Given the description of an element on the screen output the (x, y) to click on. 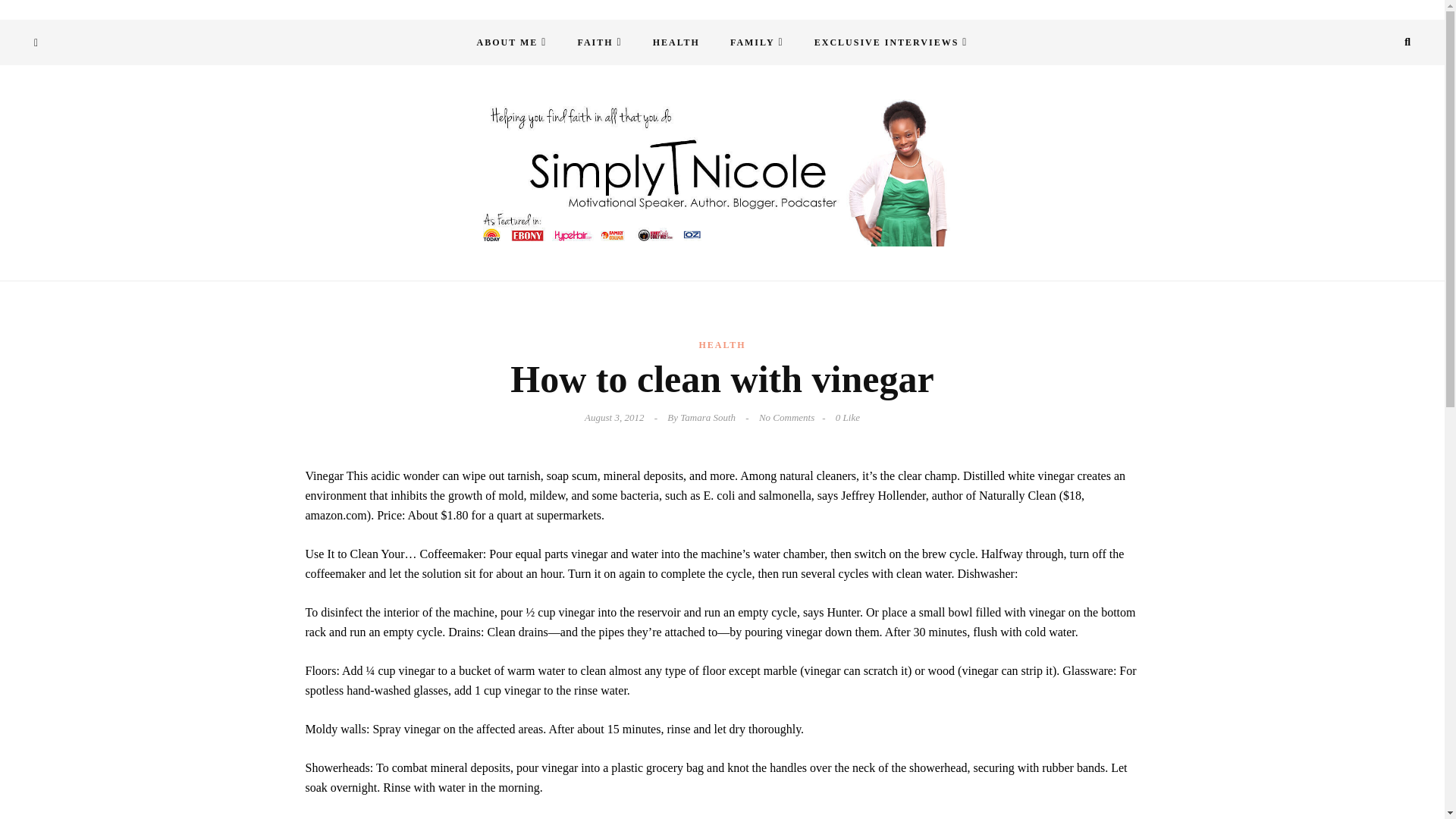
Like this (847, 417)
HEALTH (676, 42)
ABOUT ME (511, 42)
FAMILY (756, 42)
EXCLUSIVE INTERVIEWS (890, 42)
FAITH (598, 42)
